Given the description of an element on the screen output the (x, y) to click on. 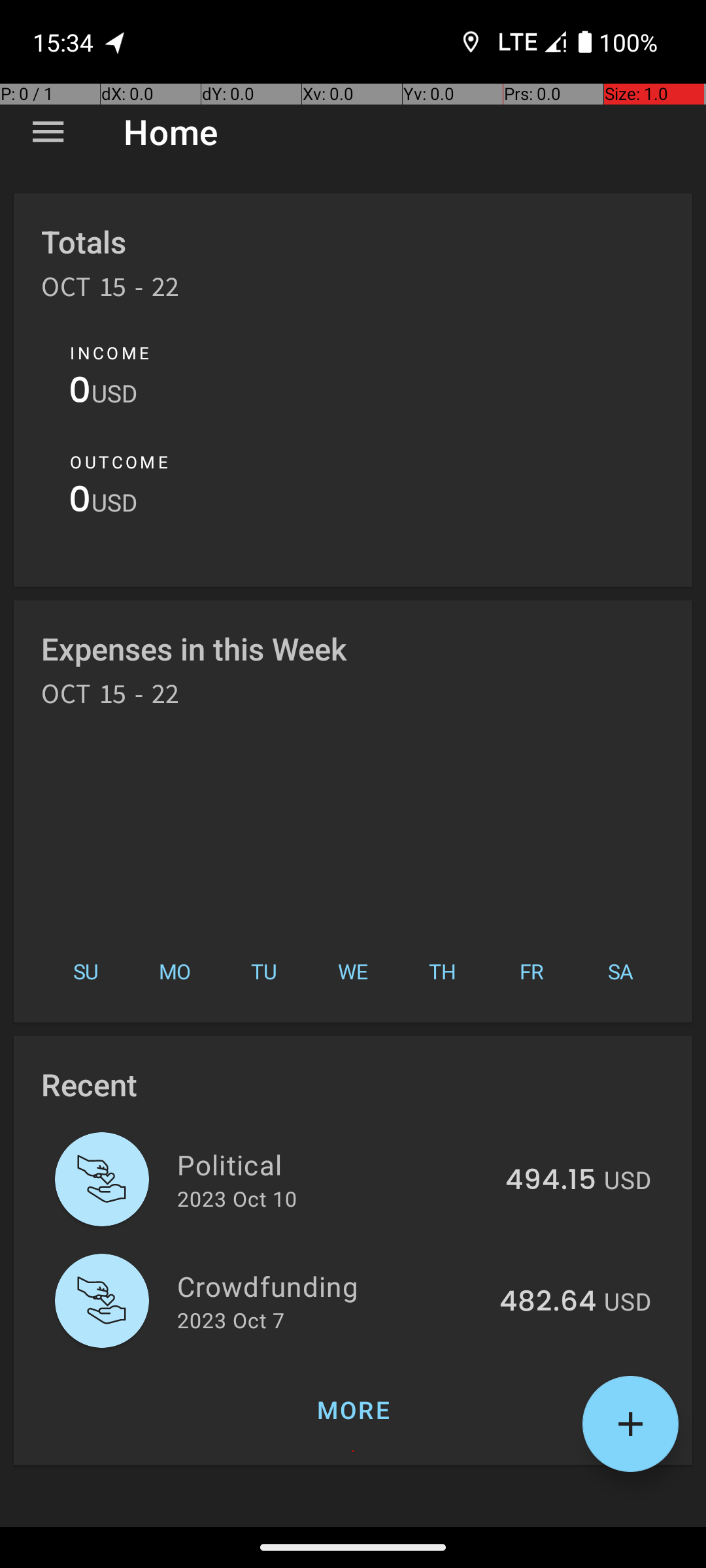
Political Element type: android.widget.TextView (333, 1164)
494.15 Element type: android.widget.TextView (550, 1180)
Crowdfunding Element type: android.widget.TextView (330, 1285)
482.64 Element type: android.widget.TextView (547, 1301)
